Given the description of an element on the screen output the (x, y) to click on. 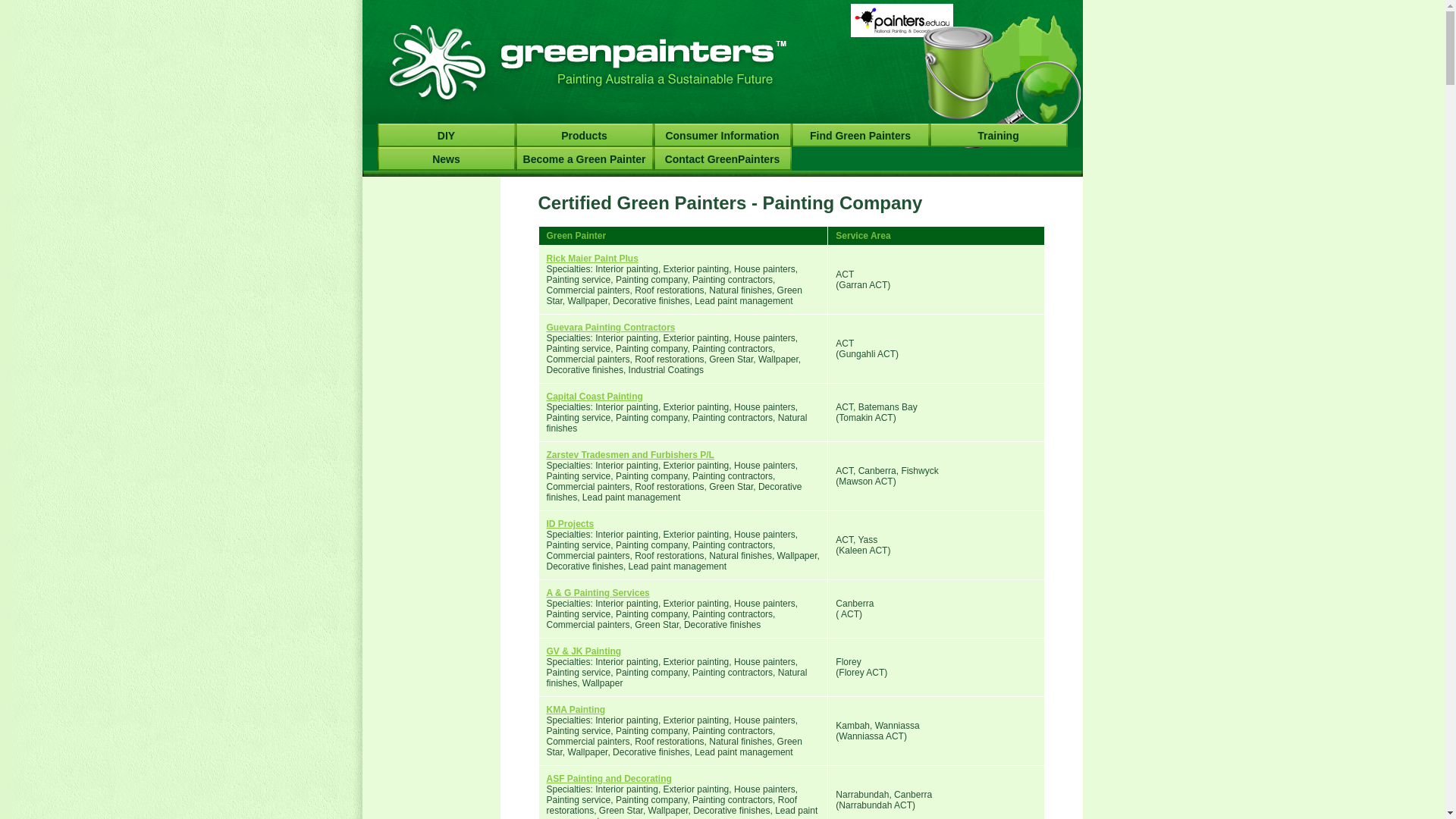
GV & JK Painting Element type: text (583, 651)
DIY Element type: text (446, 135)
KMA Painting Element type: text (575, 709)
A & G Painting Services Element type: text (597, 592)
Green Painter Element type: hover (966, 73)
Find Green Painters Element type: text (860, 135)
Contact GreenPainters Element type: text (722, 158)
ID Projects Element type: text (569, 523)
ASF Painting and Decorating Element type: text (608, 778)
Consumer Information Element type: text (722, 135)
Zarstev Tradesmen and Furbishers P/L Element type: text (629, 454)
News Element type: text (446, 158)
Green Painters Home Page Element type: hover (581, 62)
Training Element type: text (998, 135)
Become a Green Painter Element type: text (584, 158)
Rick Maier Paint Plus Element type: text (591, 258)
Guevara Painting Contractors Element type: text (610, 327)
Capital Coast Painting Element type: text (594, 396)
Products Element type: text (584, 135)
